Given the description of an element on the screen output the (x, y) to click on. 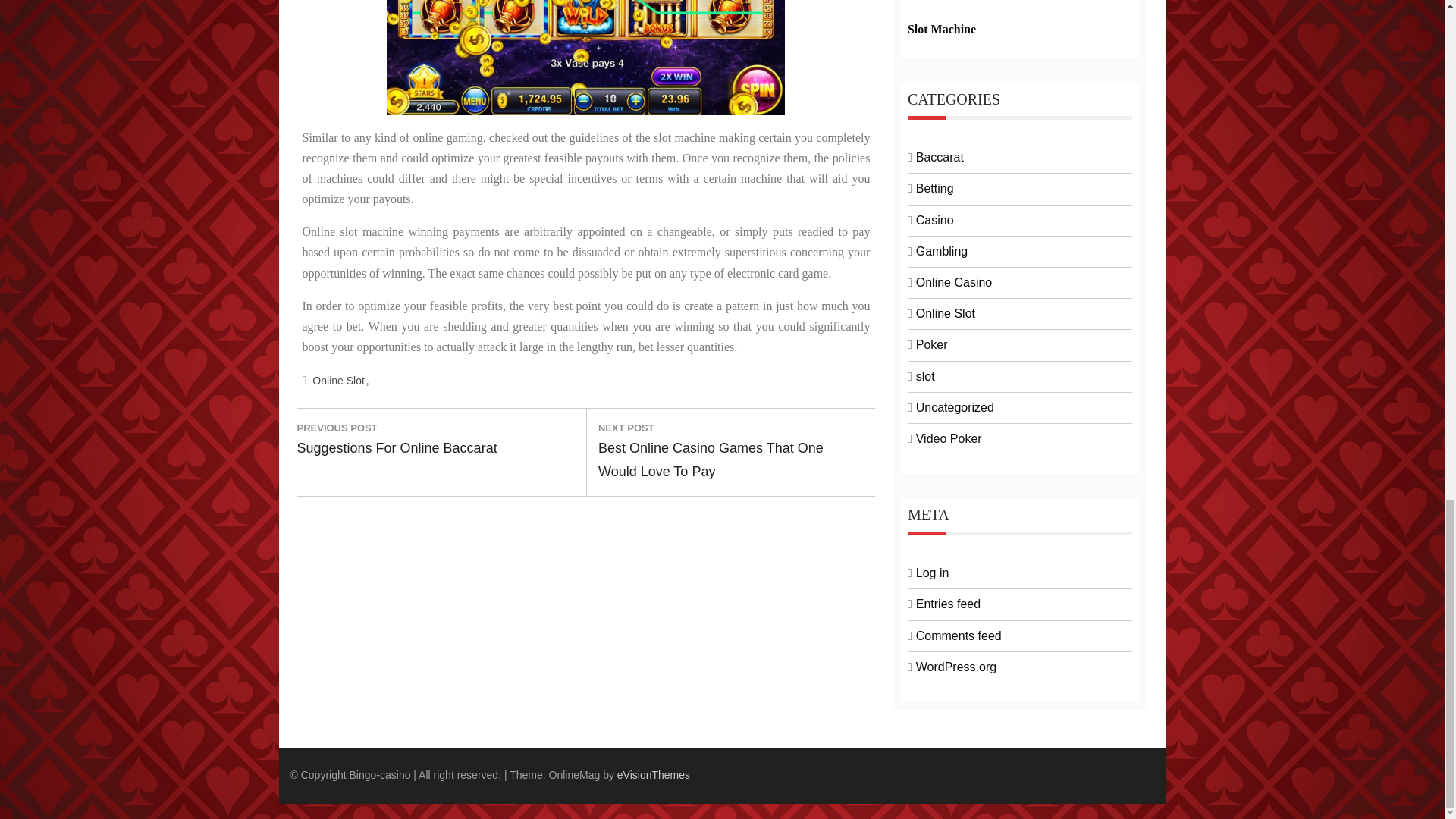
Online Slot (402, 440)
